Given the description of an element on the screen output the (x, y) to click on. 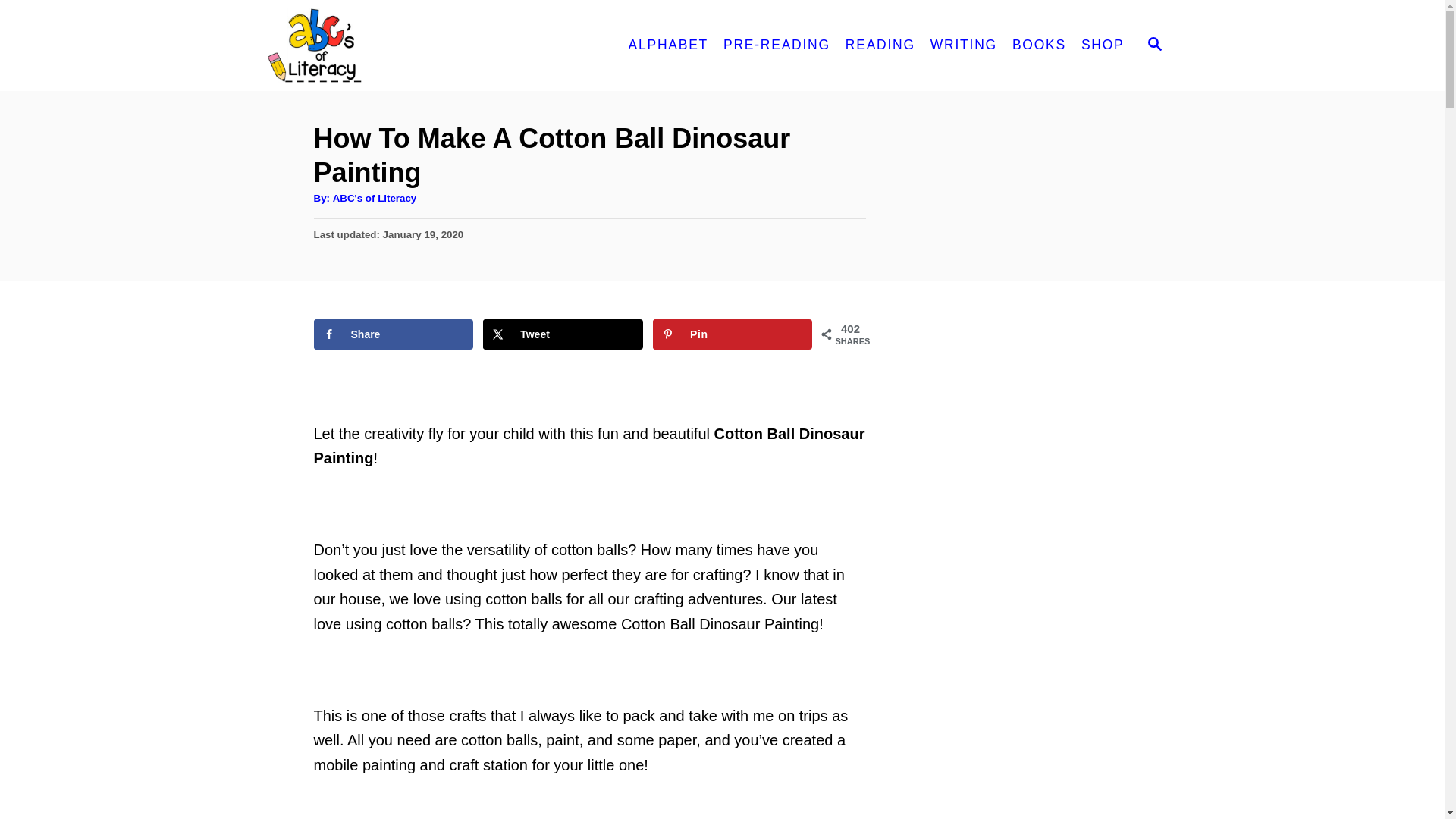
SHOP (1103, 45)
BOOKS (1039, 45)
ABC's of Literacy (374, 197)
ABC's of Literacy (403, 45)
SEARCH (1153, 45)
Tweet (563, 334)
Share on Facebook (394, 334)
WRITING (963, 45)
Pin (732, 334)
PRE-READING (777, 45)
